Given the description of an element on the screen output the (x, y) to click on. 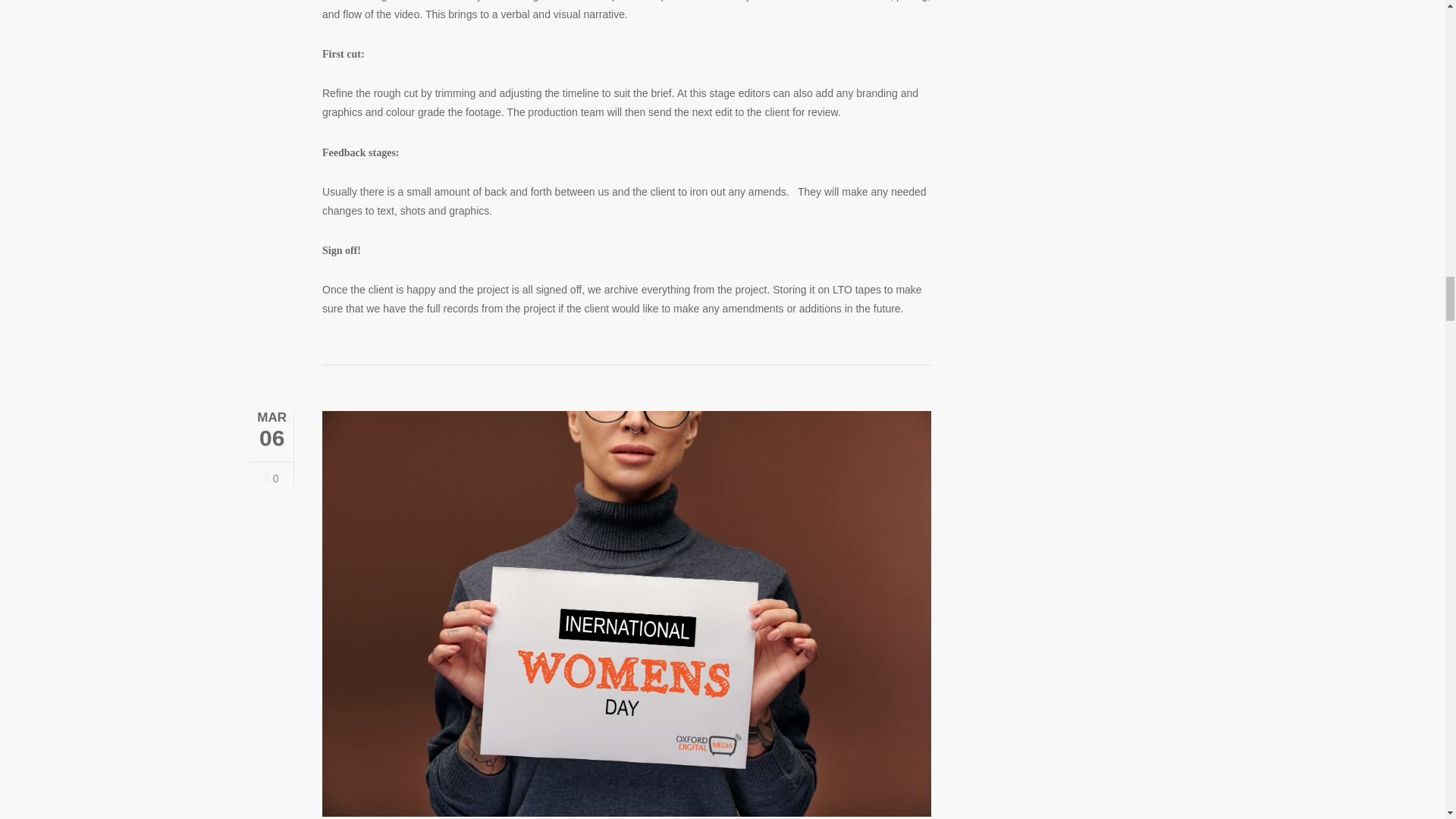
0 (271, 478)
Love this (271, 478)
